Given the description of an element on the screen output the (x, y) to click on. 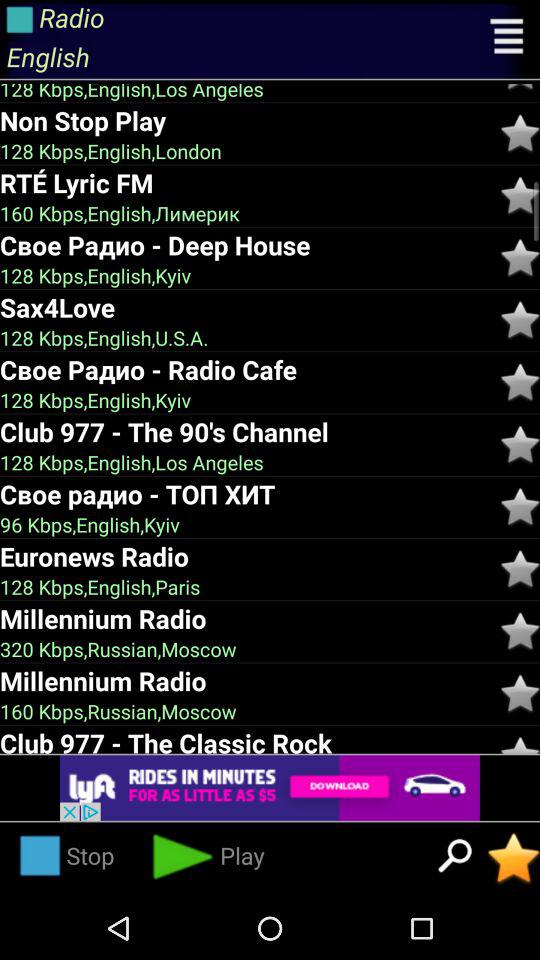
mark as important (513, 858)
